Given the description of an element on the screen output the (x, y) to click on. 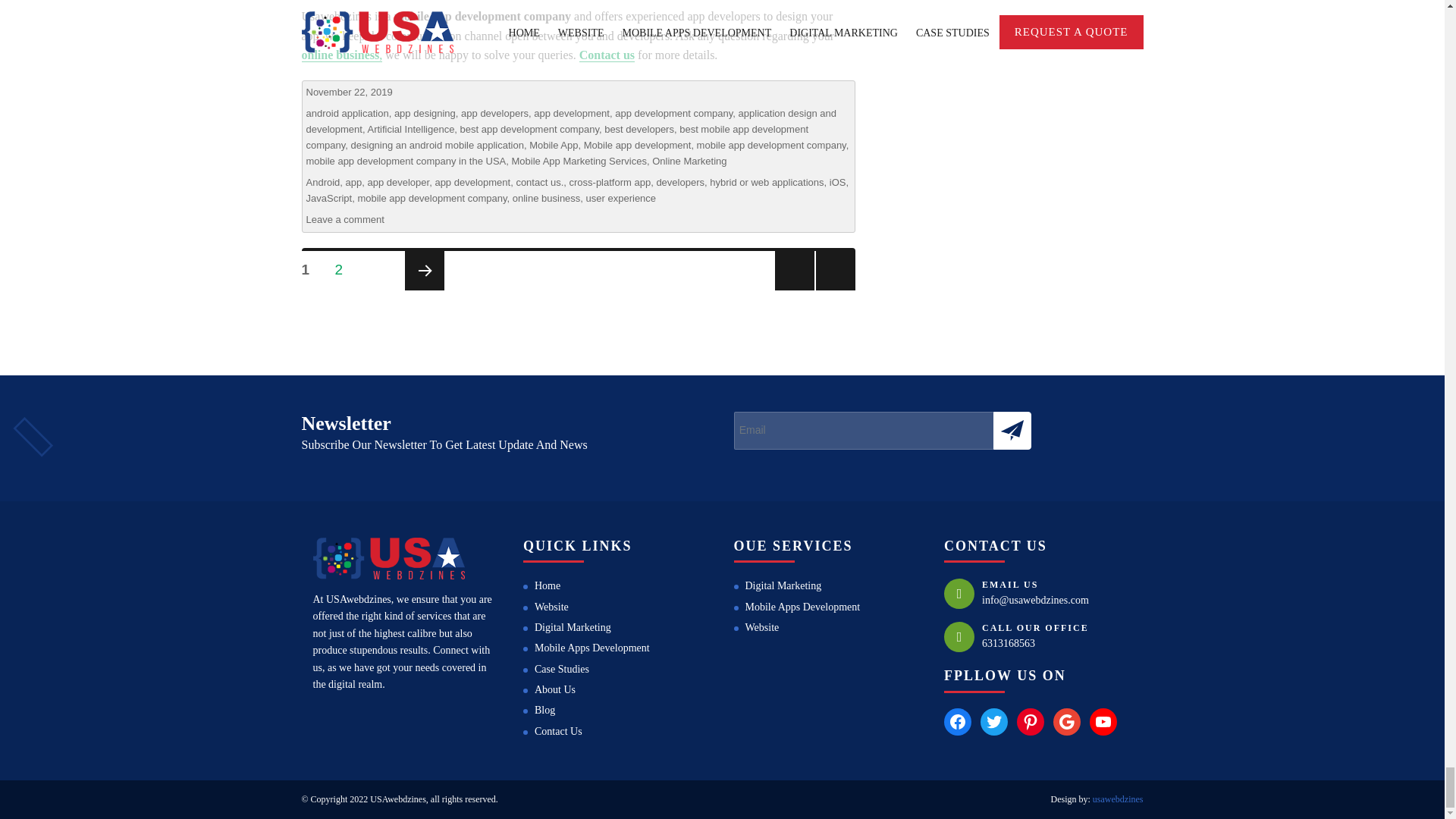
Submit (1011, 430)
